Given the description of an element on the screen output the (x, y) to click on. 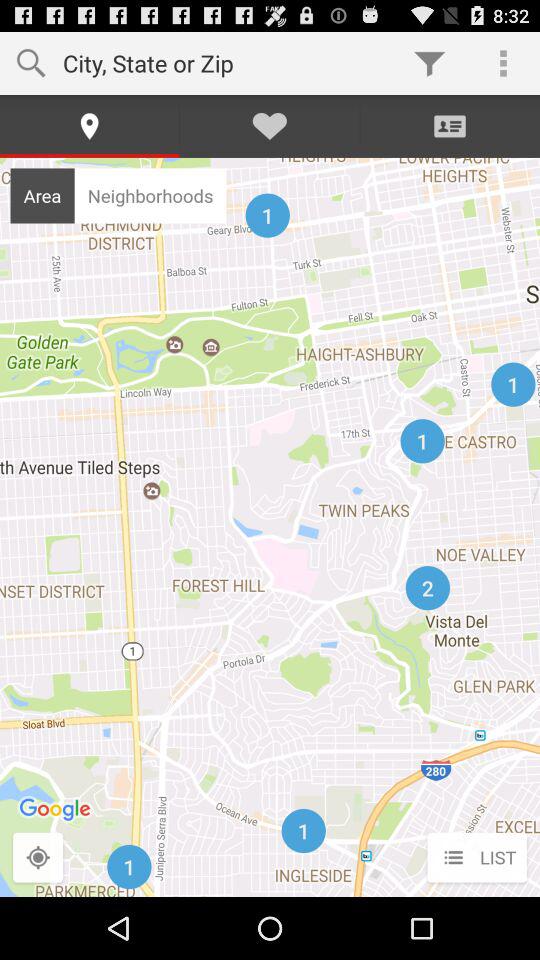
scroll until area icon (42, 195)
